Given the description of an element on the screen output the (x, y) to click on. 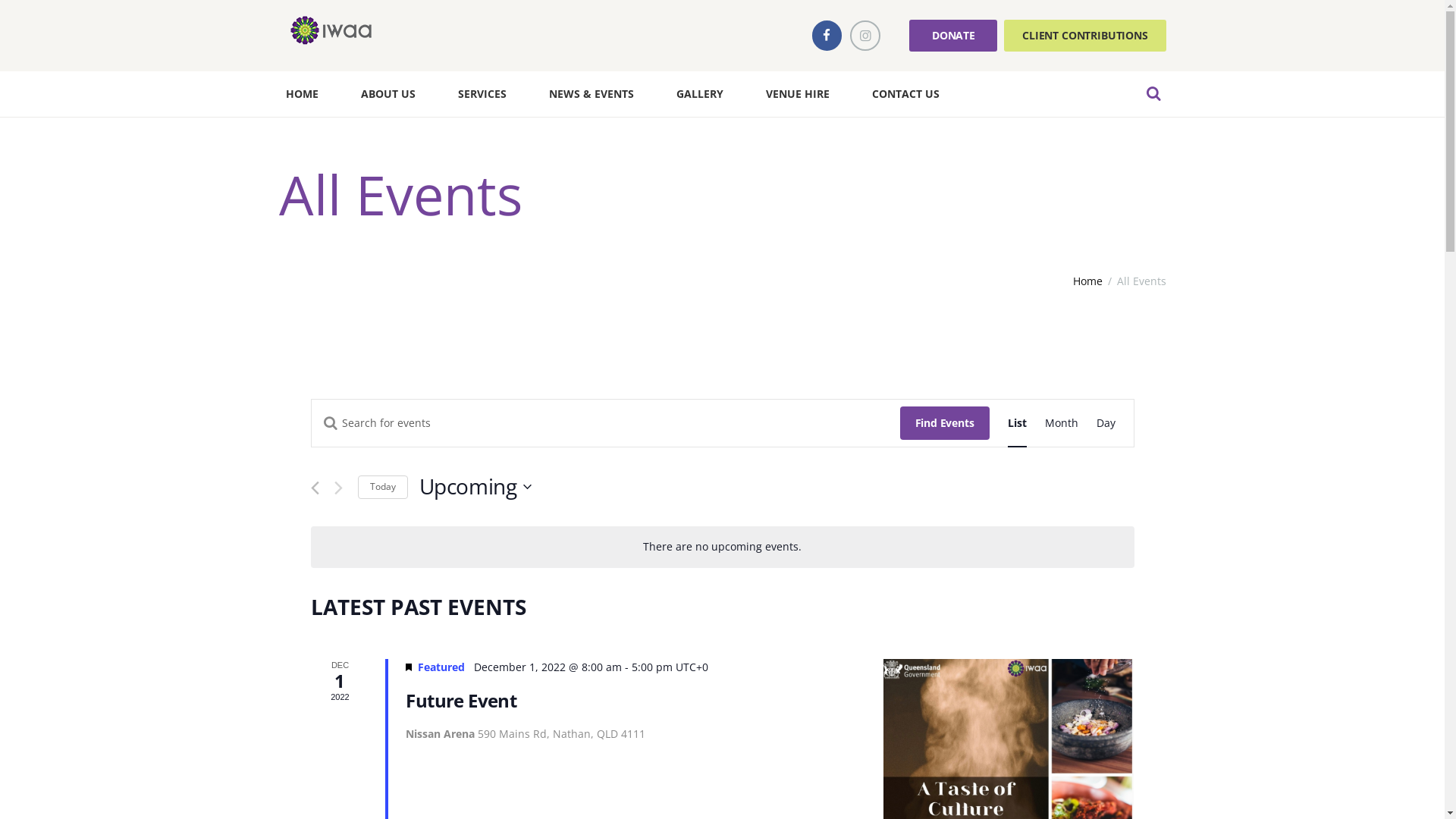
Open search Element type: hover (1153, 92)
CONTACT US Element type: text (905, 93)
List Element type: text (1016, 423)
ABOUT US Element type: text (387, 93)
Today Element type: text (382, 486)
Find Events Element type: text (943, 423)
Day Element type: text (1105, 423)
Previous Events Element type: hover (314, 487)
Upcoming Element type: text (474, 486)
VENUE HIRE Element type: text (797, 93)
DONATE Element type: text (953, 34)
HOME Element type: text (309, 93)
SERVICES Element type: text (481, 93)
Month Element type: text (1061, 423)
NEWS & EVENTS Element type: text (591, 93)
Home Element type: text (1086, 280)
Future Event Element type: text (460, 700)
Next Events Element type: hover (338, 487)
GALLERY Element type: text (699, 93)
CLIENT CONTRIBUTIONS Element type: text (1084, 34)
